Given the description of an element on the screen output the (x, y) to click on. 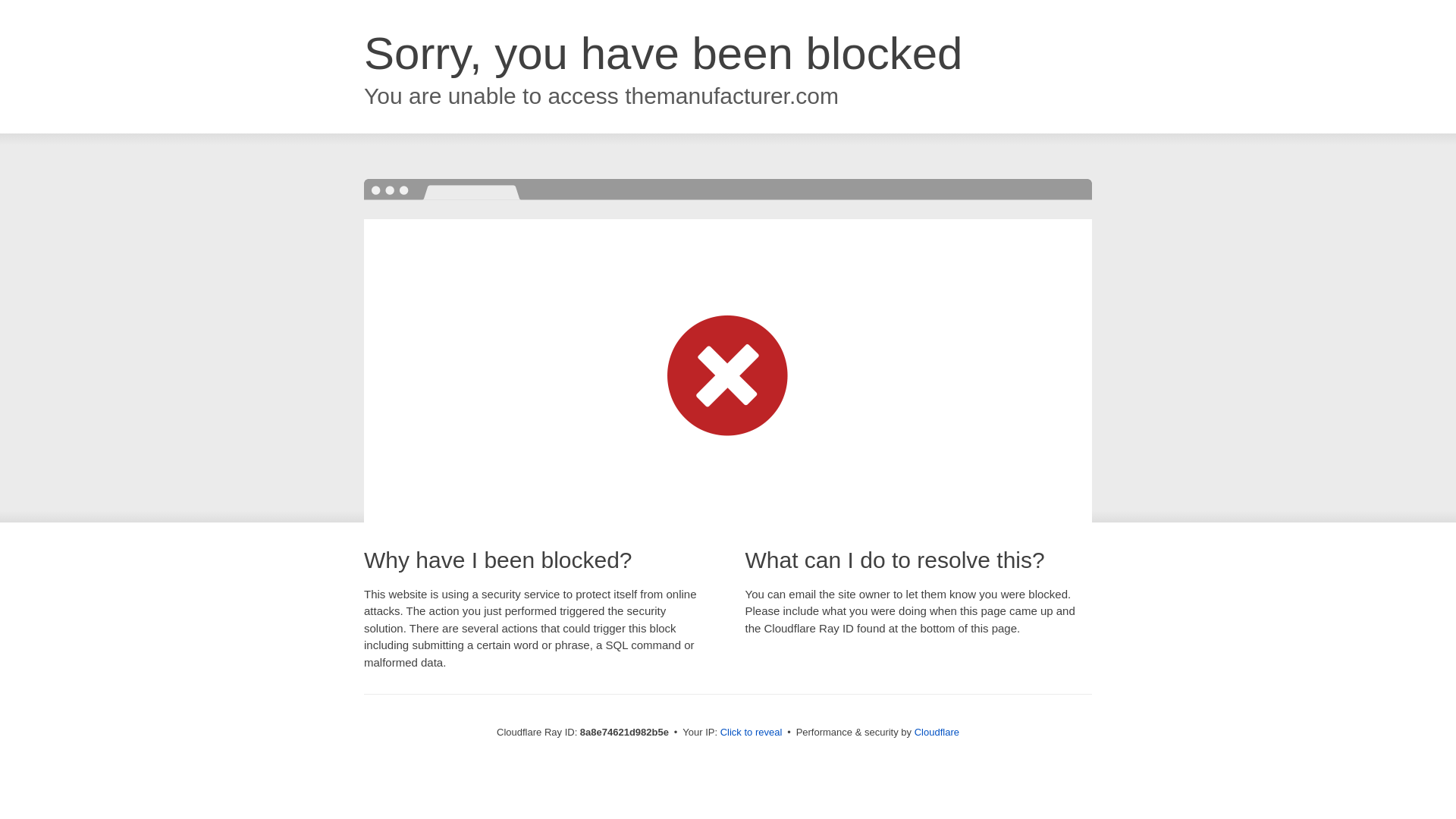
Click to reveal (751, 732)
Cloudflare (936, 731)
